Given the description of an element on the screen output the (x, y) to click on. 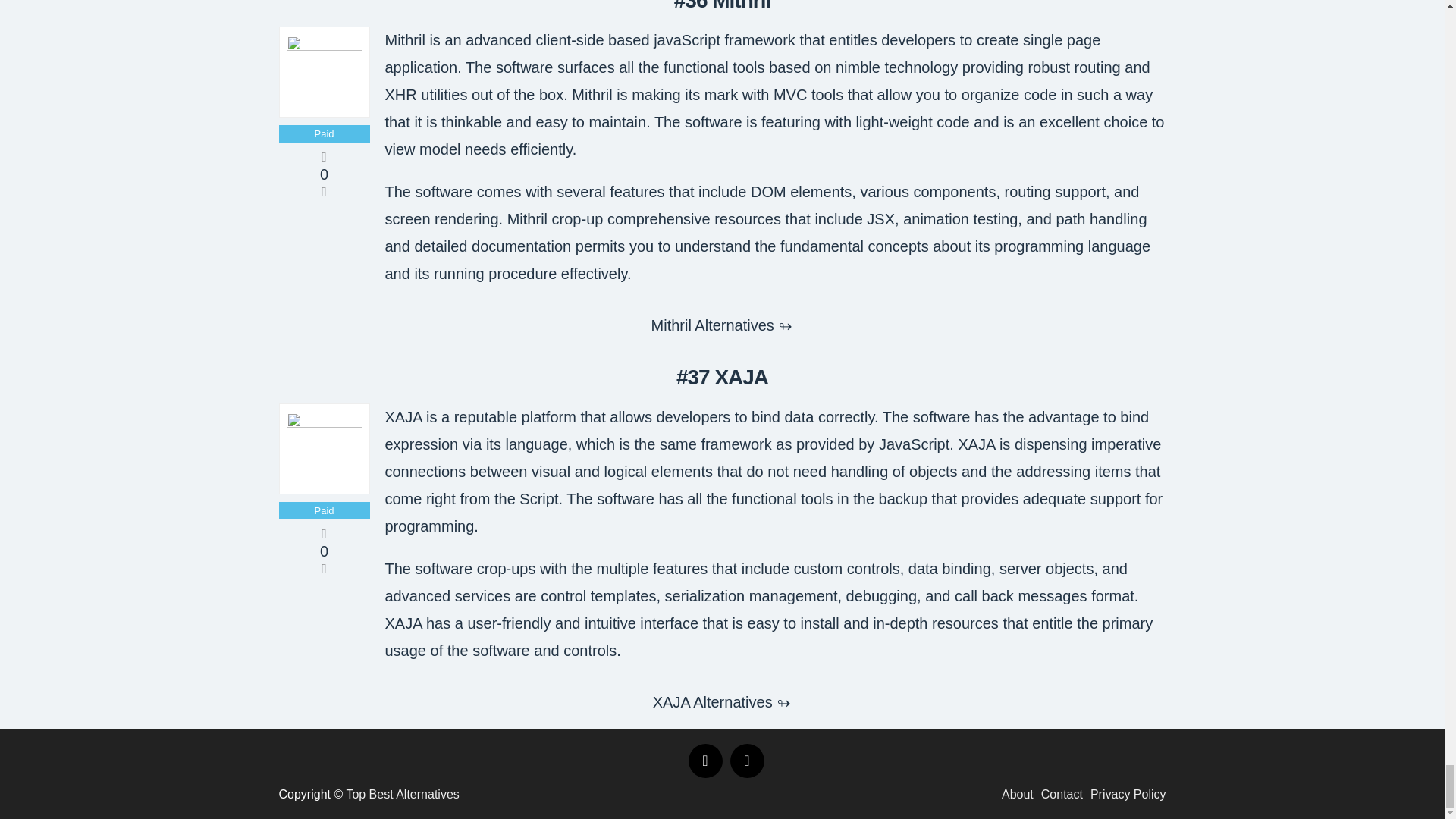
Twitter (745, 760)
Facebook (705, 760)
